Given the description of an element on the screen output the (x, y) to click on. 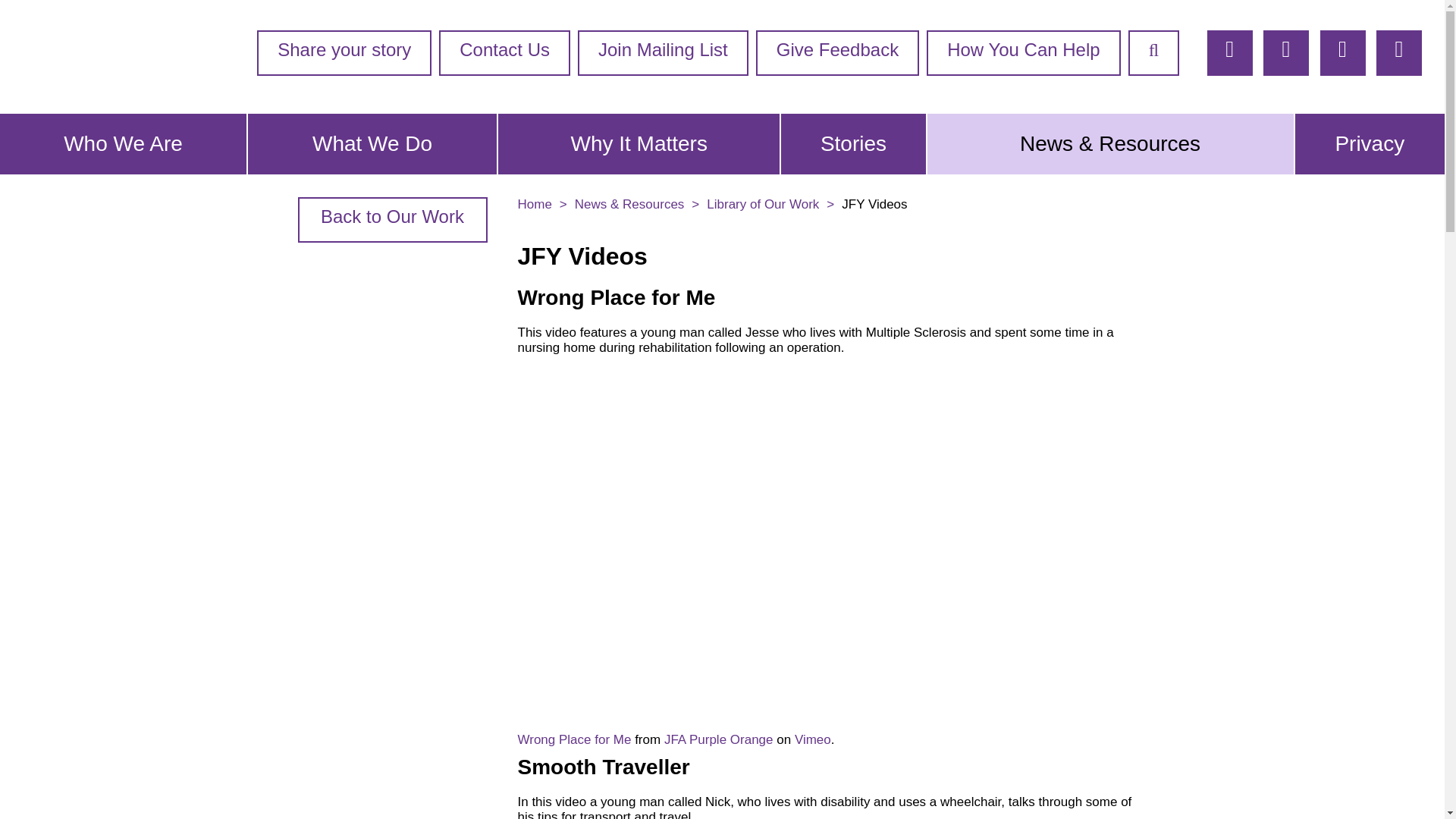
Vimeo (812, 739)
Give Feedback (836, 53)
Library of Our Work (770, 204)
Home (541, 204)
Purple Orange (73, 57)
JFA Purple Orange (718, 739)
Contact Us (504, 53)
How You Can Help (1022, 53)
Back to Our Work (391, 219)
Share your story (343, 53)
Why It Matters (637, 143)
Join Mailing List (663, 53)
Who We Are (123, 143)
Stories (852, 143)
What We Do (371, 143)
